Given the description of an element on the screen output the (x, y) to click on. 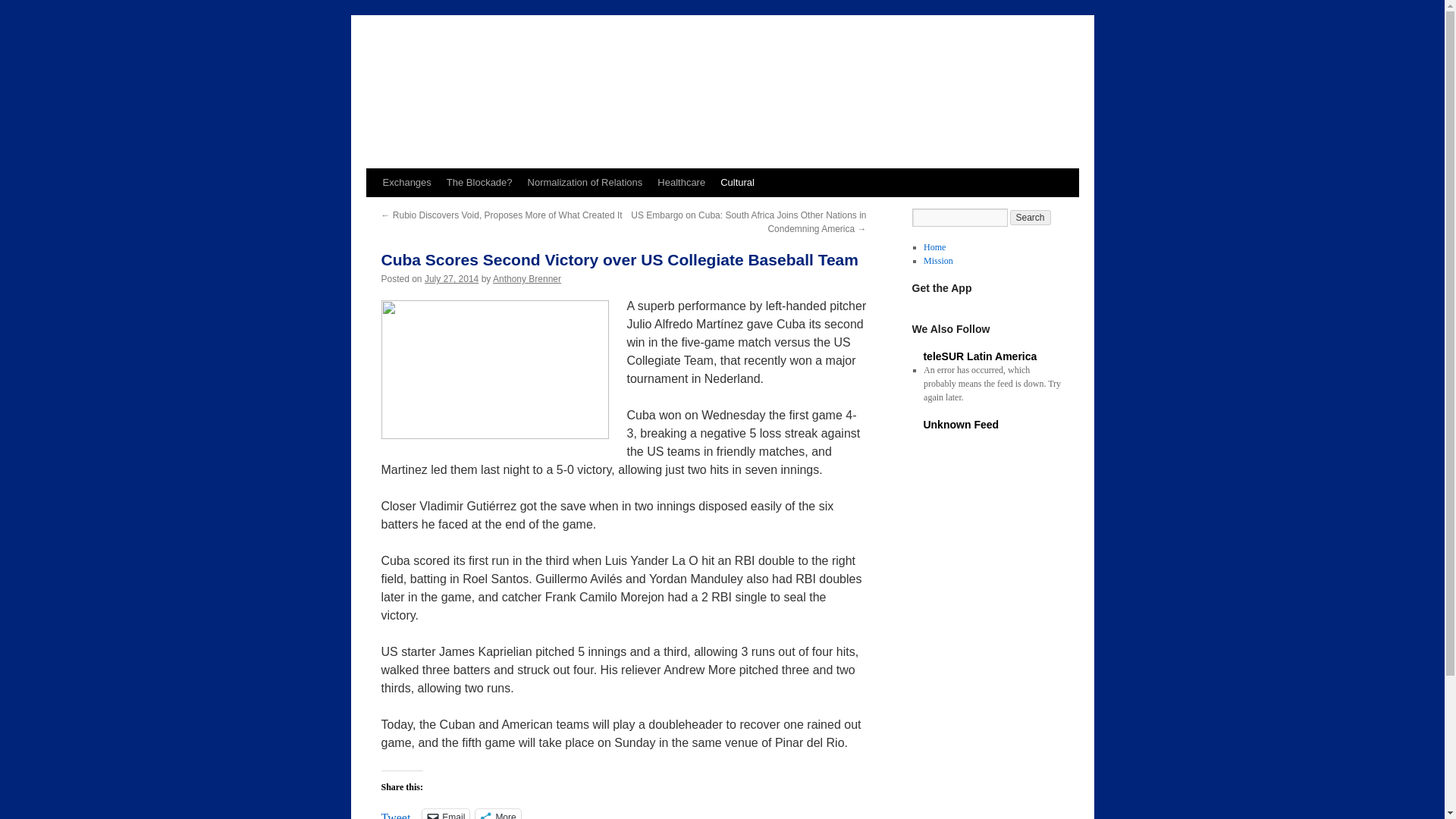
Normalization of Relations (584, 182)
Search (1030, 217)
Anthony Brenner (526, 278)
View all posts by Anthony Brenner (526, 278)
Healthcare (681, 182)
Email (445, 814)
Exchanges (406, 182)
The Blockade? (479, 182)
July 27, 2014 (452, 278)
Click to email a link to a friend (445, 814)
